Given the description of an element on the screen output the (x, y) to click on. 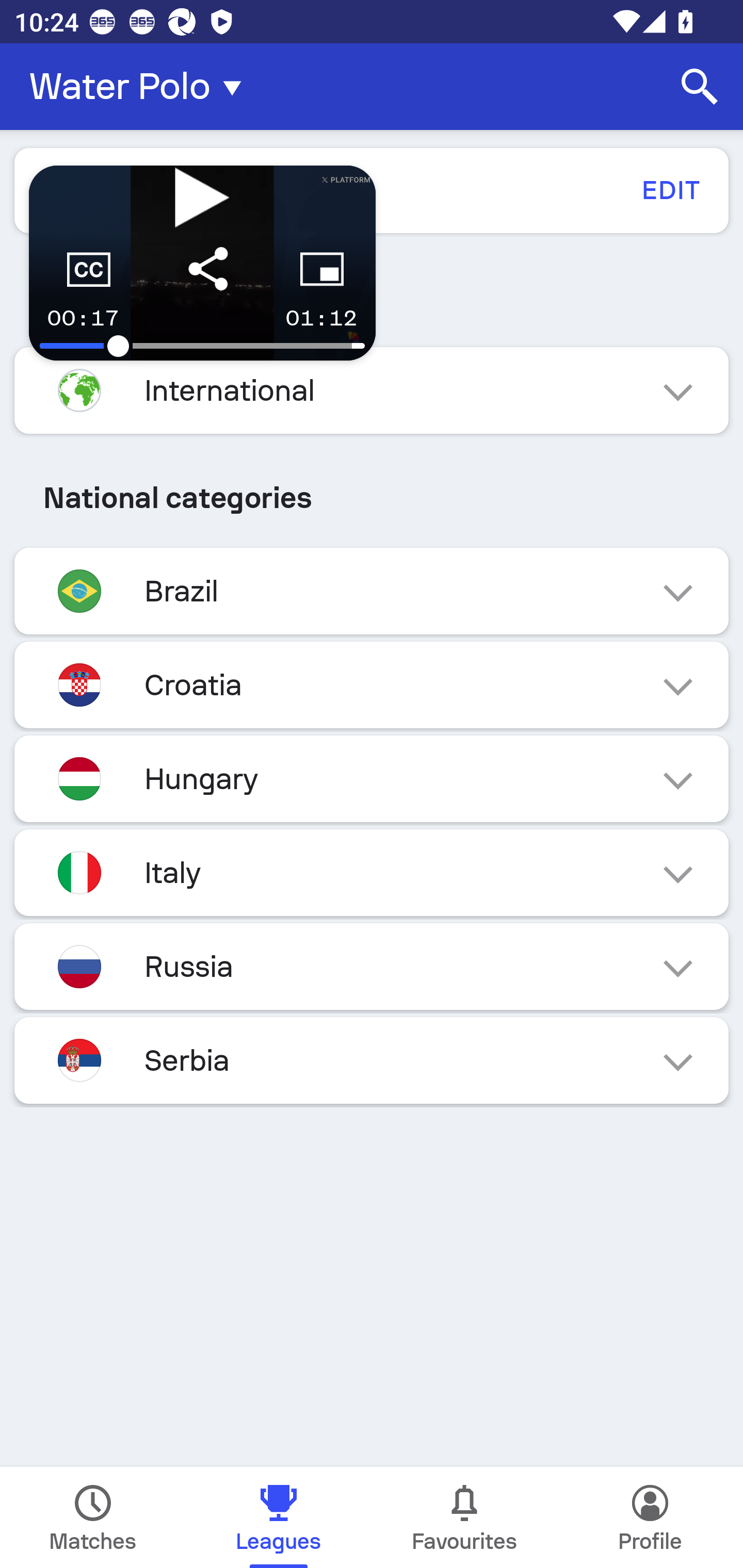
Water Polo (140, 86)
Search (699, 86)
EDIT (670, 190)
International (371, 390)
National categories (371, 497)
Brazil (371, 591)
Croatia (371, 684)
Hungary (371, 778)
Italy (371, 872)
Russia (371, 966)
Serbia (371, 1060)
Matches (92, 1517)
Favourites (464, 1517)
Profile (650, 1517)
